Given the description of an element on the screen output the (x, y) to click on. 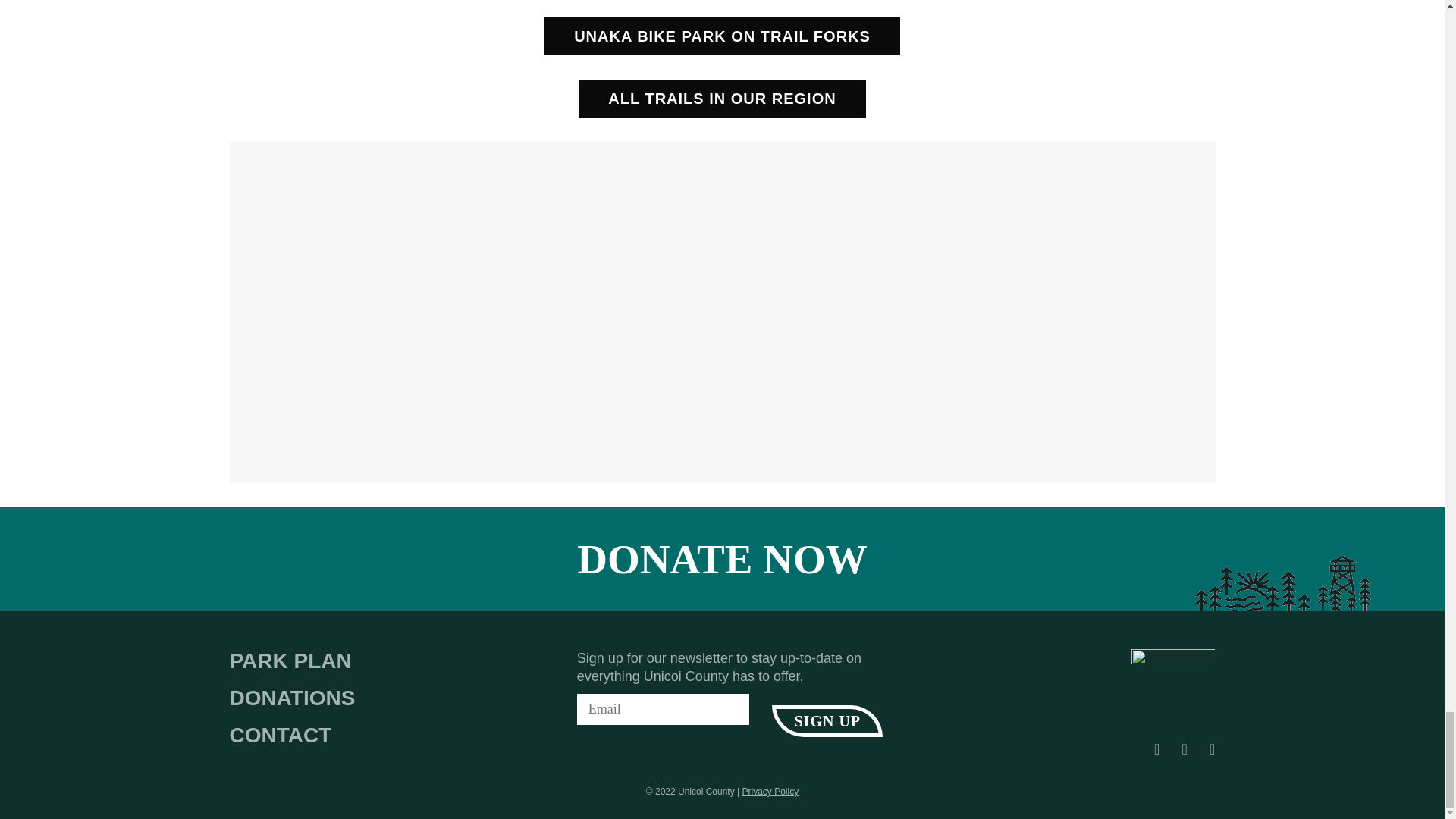
PARK PLAN (291, 661)
UNAKA BIKE PARK ON TRAIL FORKS (721, 36)
DONATIONS (291, 698)
ALL TRAILS IN OUR REGION (721, 98)
Privacy Policy (769, 791)
CONTACT (291, 735)
SIGN UP (826, 721)
SIGN UP (826, 721)
